Given the description of an element on the screen output the (x, y) to click on. 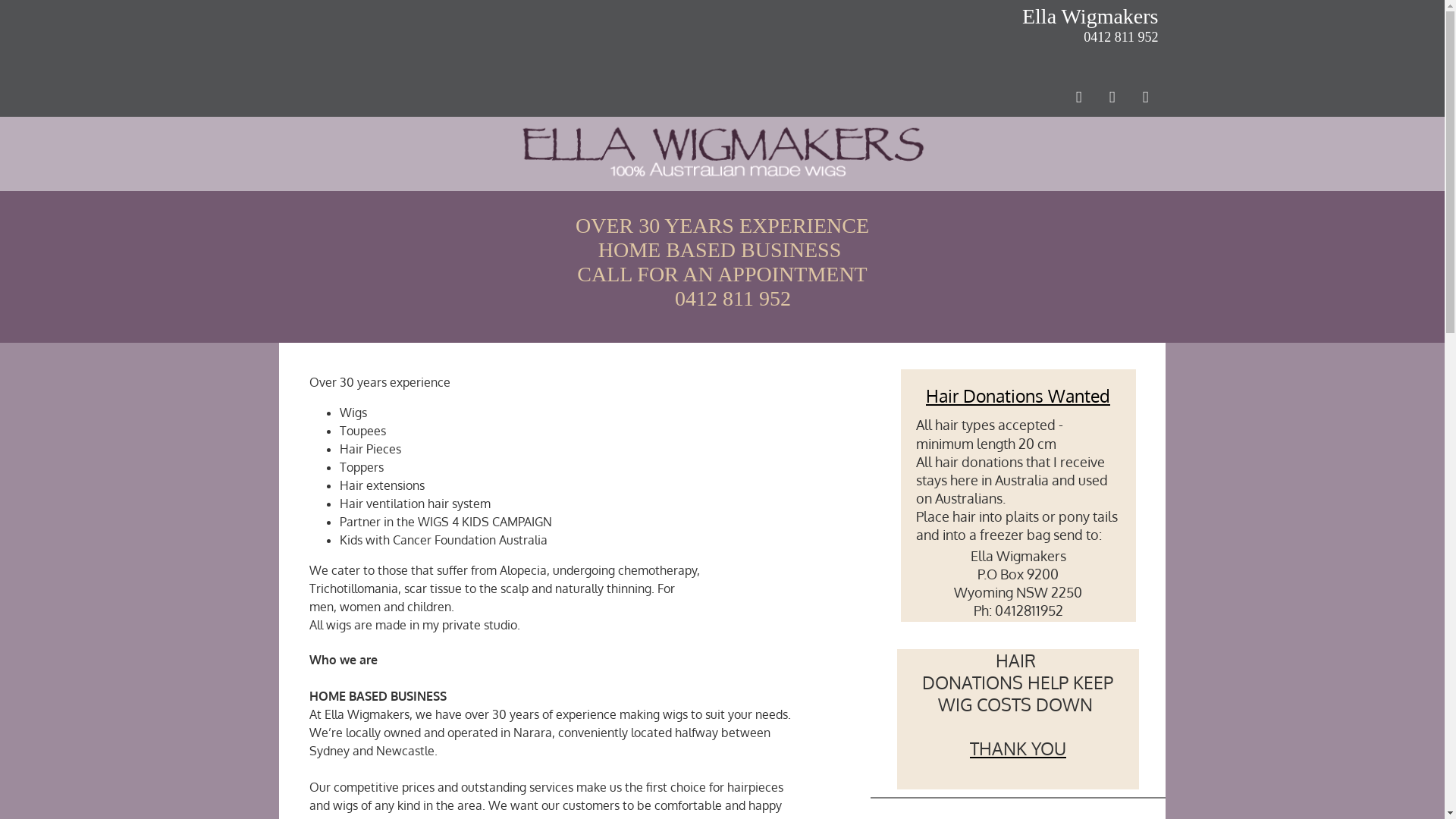
Ella Wigmakers logo Element type: hover (722, 153)
 0412 811 952 Element type: text (1119, 36)
